Given the description of an element on the screen output the (x, y) to click on. 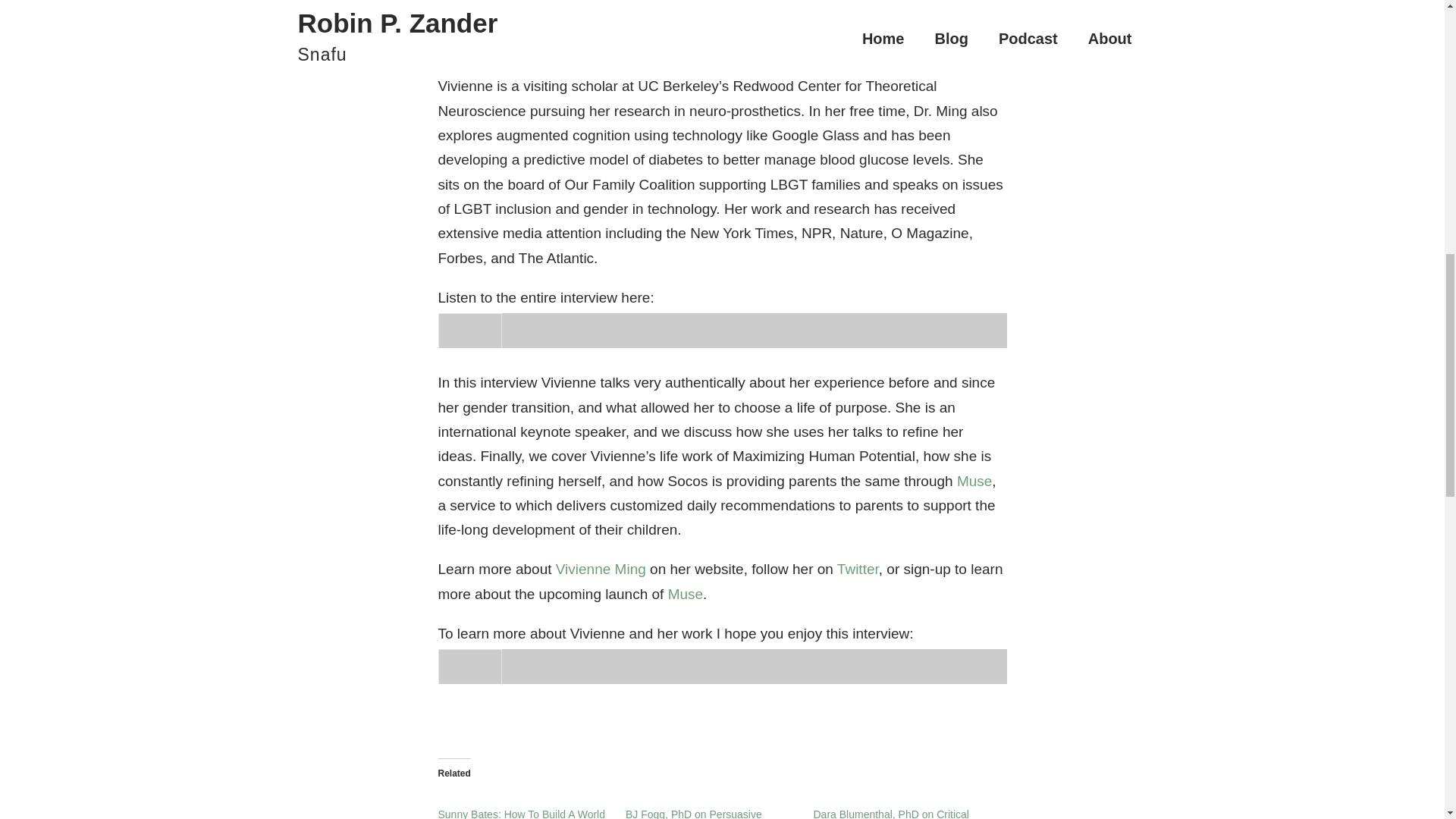
Vivienne Ming (601, 569)
Twitter (858, 569)
BJ Fogg, PhD on Persuasive Technology and Behavior Change (705, 813)
Muse (973, 480)
Sunny Bates: How To Build A World Class Network (521, 813)
BJ Fogg, PhD on Persuasive Technology and Behavior Change (705, 813)
Sunny Bates: How To Build A World Class Network (521, 813)
Muse (685, 593)
